Given the description of an element on the screen output the (x, y) to click on. 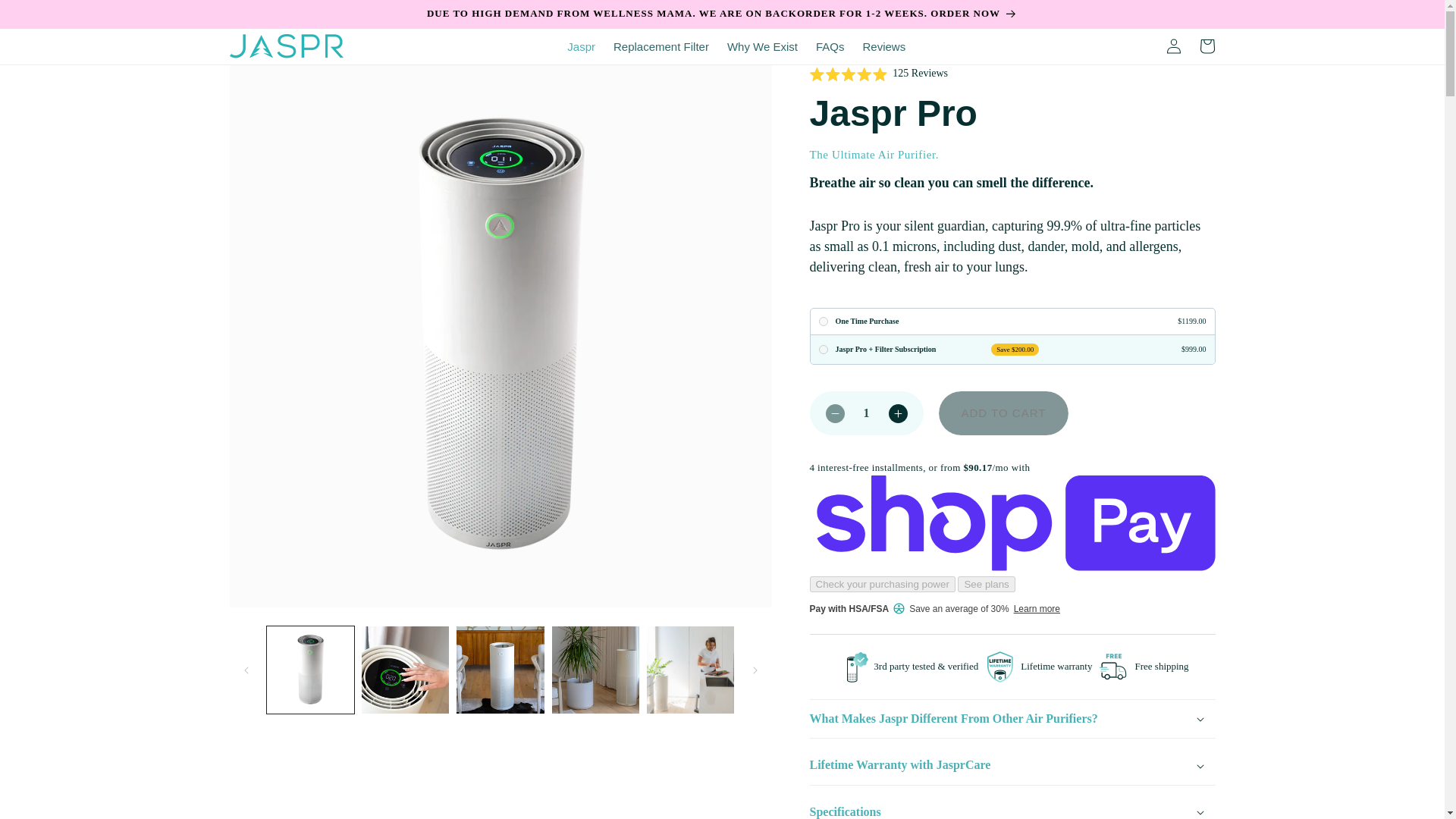
Skip to product information (274, 81)
1 (865, 412)
Reviews (883, 46)
Jaspr (580, 46)
Decrease quantity for Jaspr Pro (833, 412)
FAQs (829, 46)
Replacement Filter (660, 46)
Cart (1207, 46)
Skip to content (45, 16)
Log in (1174, 46)
on (823, 348)
Why We Exist (761, 46)
on (823, 320)
